Given the description of an element on the screen output the (x, y) to click on. 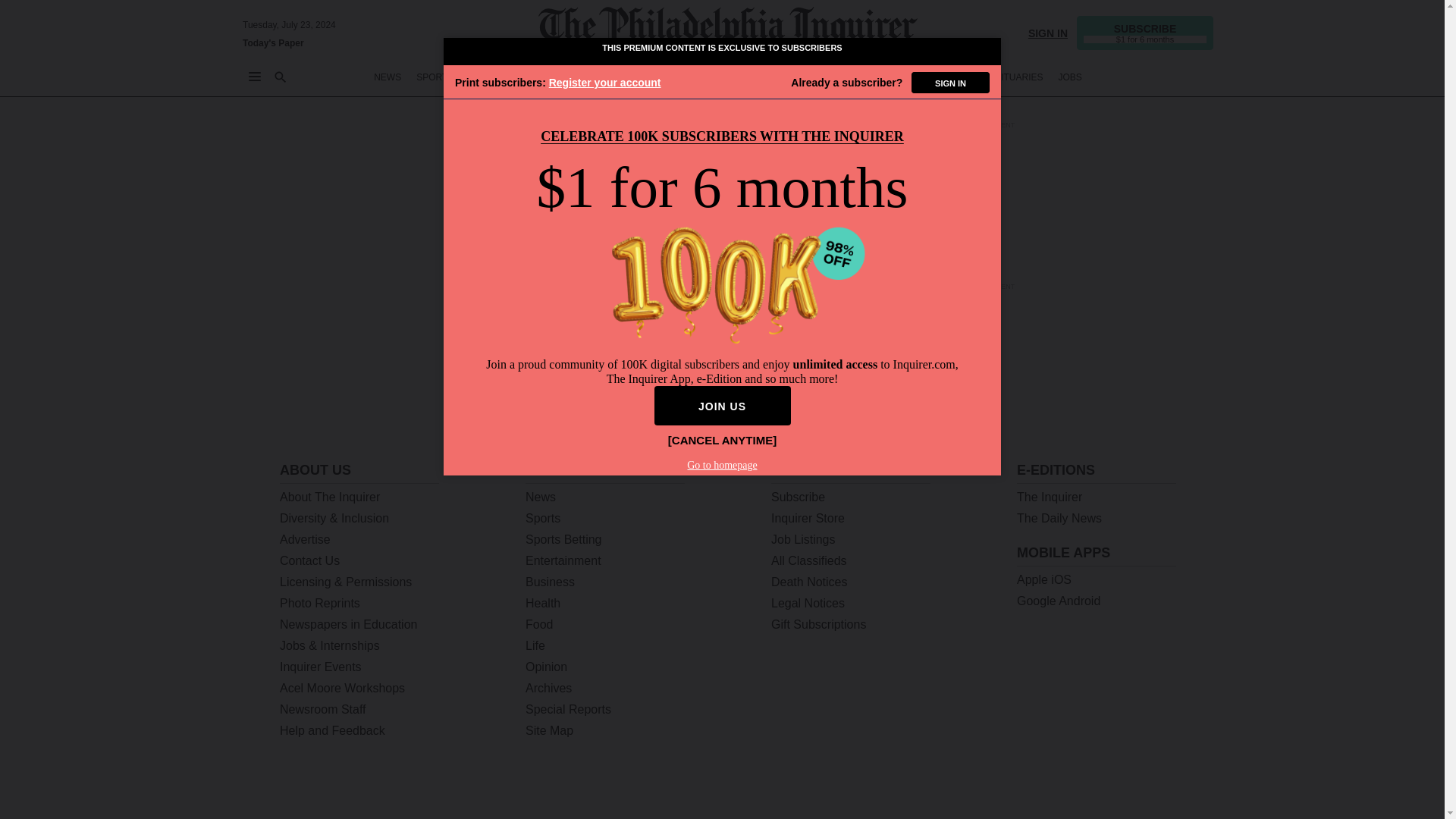
Facebook (1076, 790)
Twitter (1036, 790)
Instagram (1115, 790)
